Given the description of an element on the screen output the (x, y) to click on. 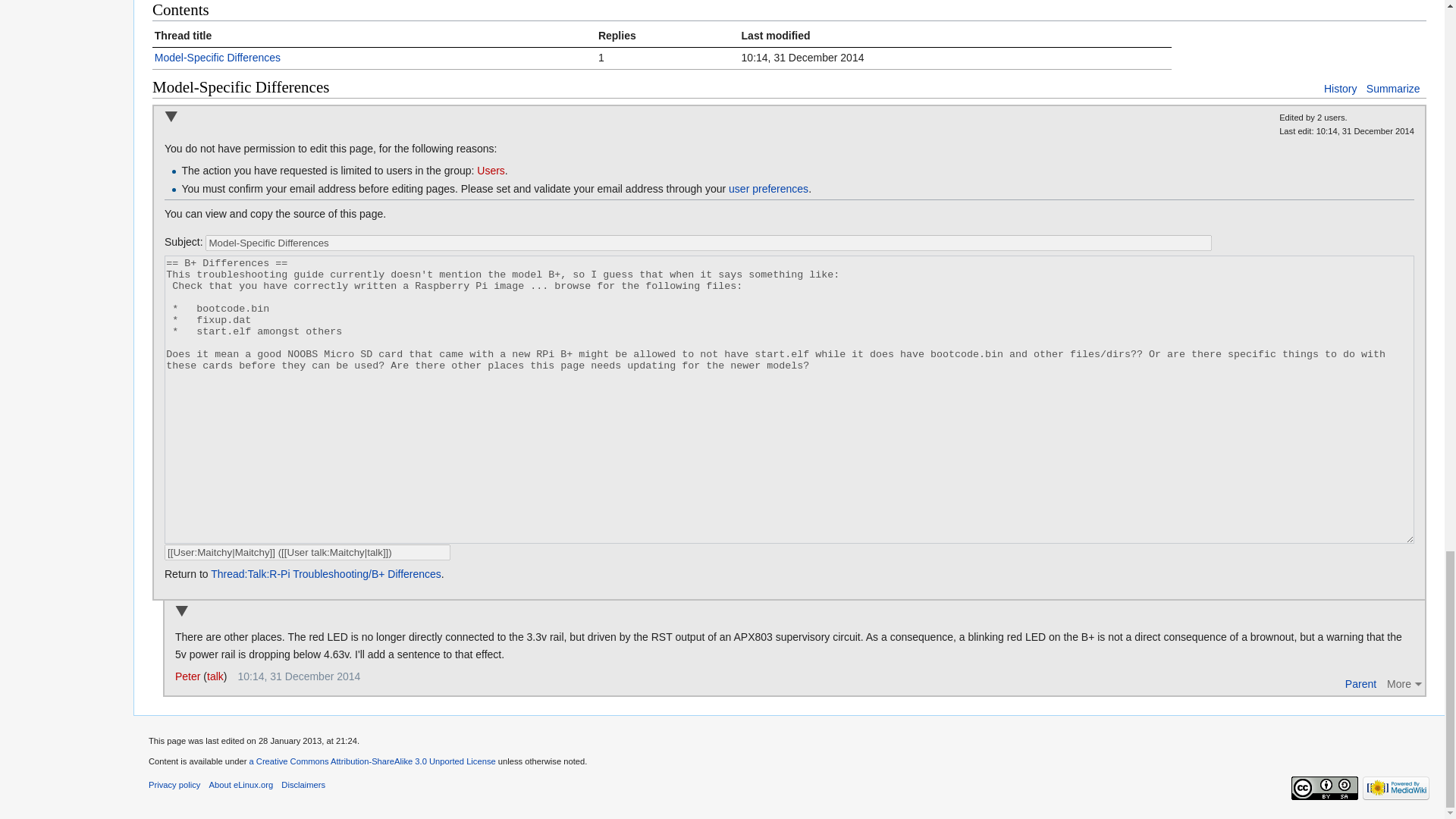
Model-Specific Differences  (708, 242)
Special:Preferences (768, 188)
talk (215, 676)
Summarize (1394, 88)
More (1406, 683)
Model-Specific Differences (217, 57)
Peter (187, 676)
Collapse (170, 117)
user preferences (768, 188)
History (1339, 88)
Users (491, 170)
Collapse (180, 612)
Parent (1360, 683)
